Given the description of an element on the screen output the (x, y) to click on. 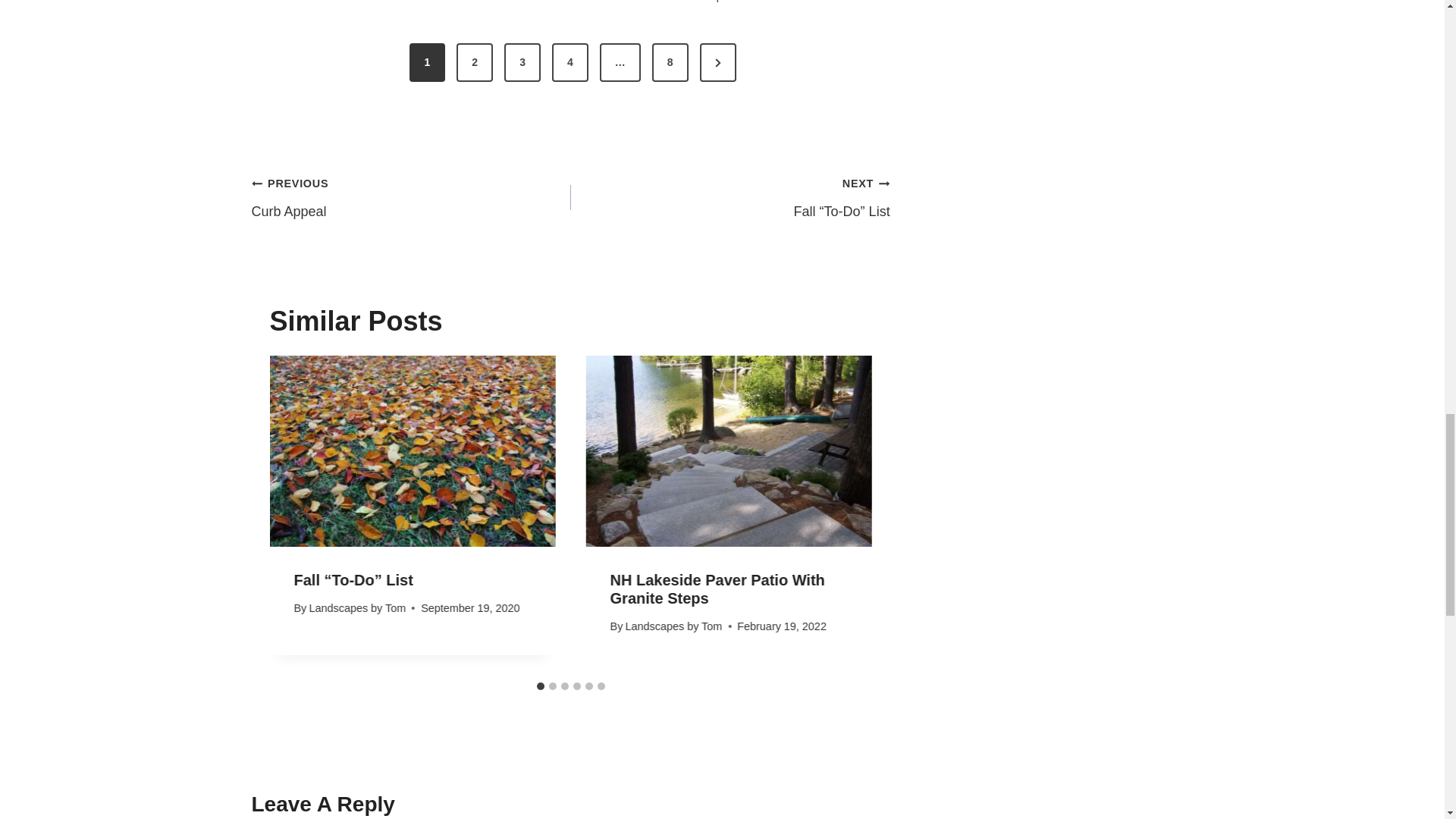
Next Page (718, 62)
3 (521, 62)
2 (475, 62)
8 (670, 62)
4 (410, 196)
